Given the description of an element on the screen output the (x, y) to click on. 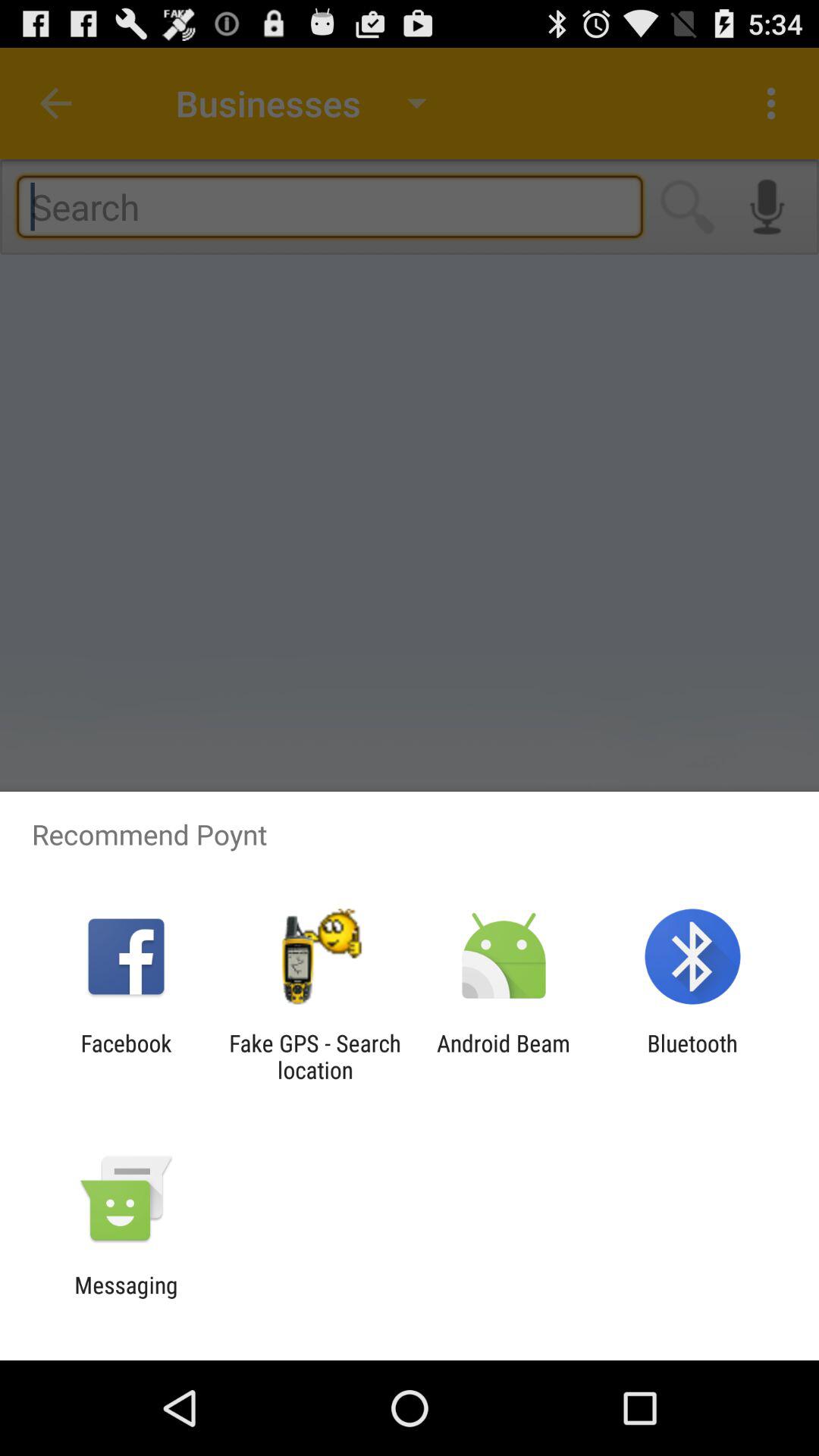
click item to the left of the bluetooth (503, 1056)
